Given the description of an element on the screen output the (x, y) to click on. 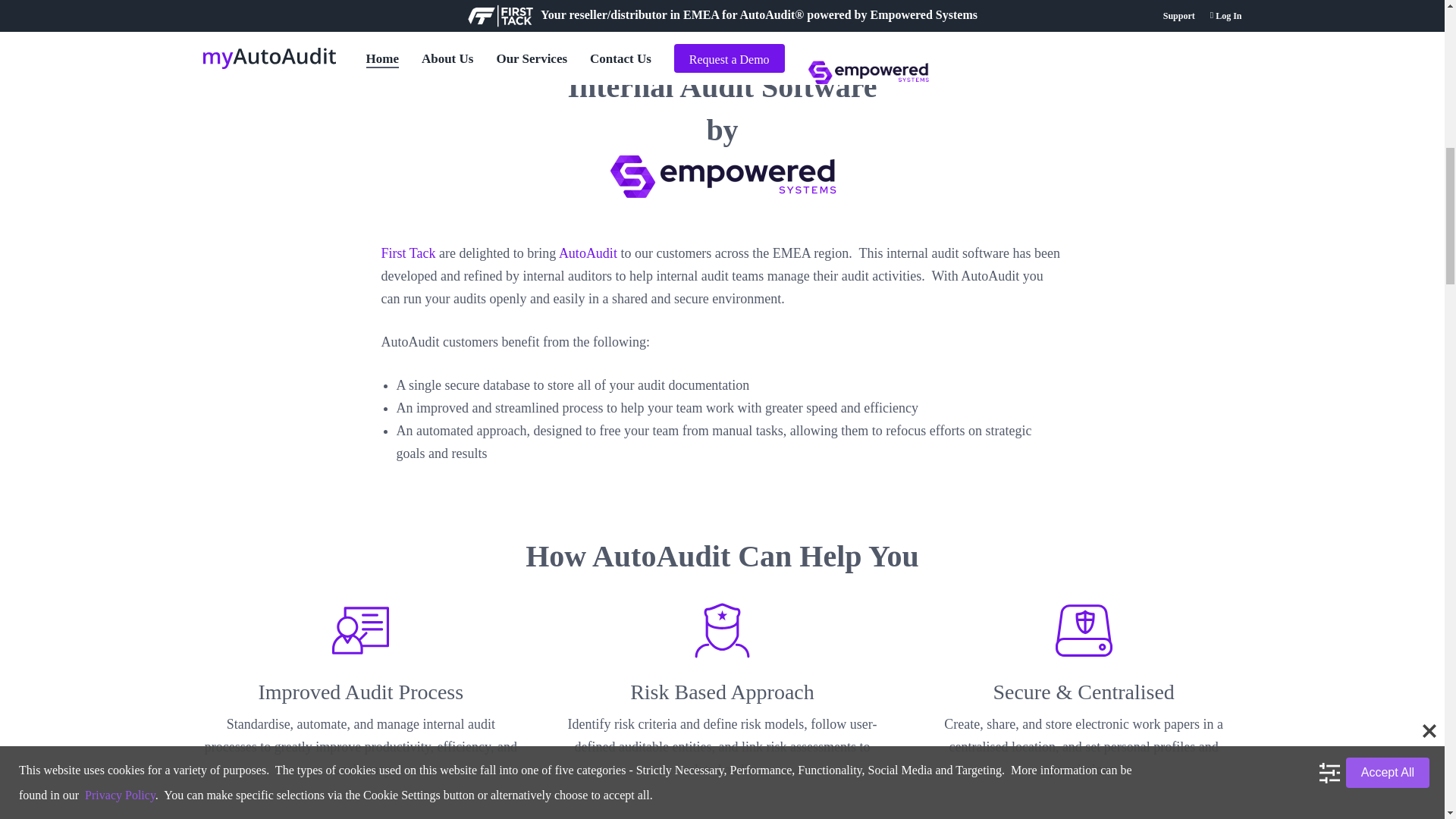
First Tack (407, 253)
AutoAudit (588, 253)
